Given the description of an element on the screen output the (x, y) to click on. 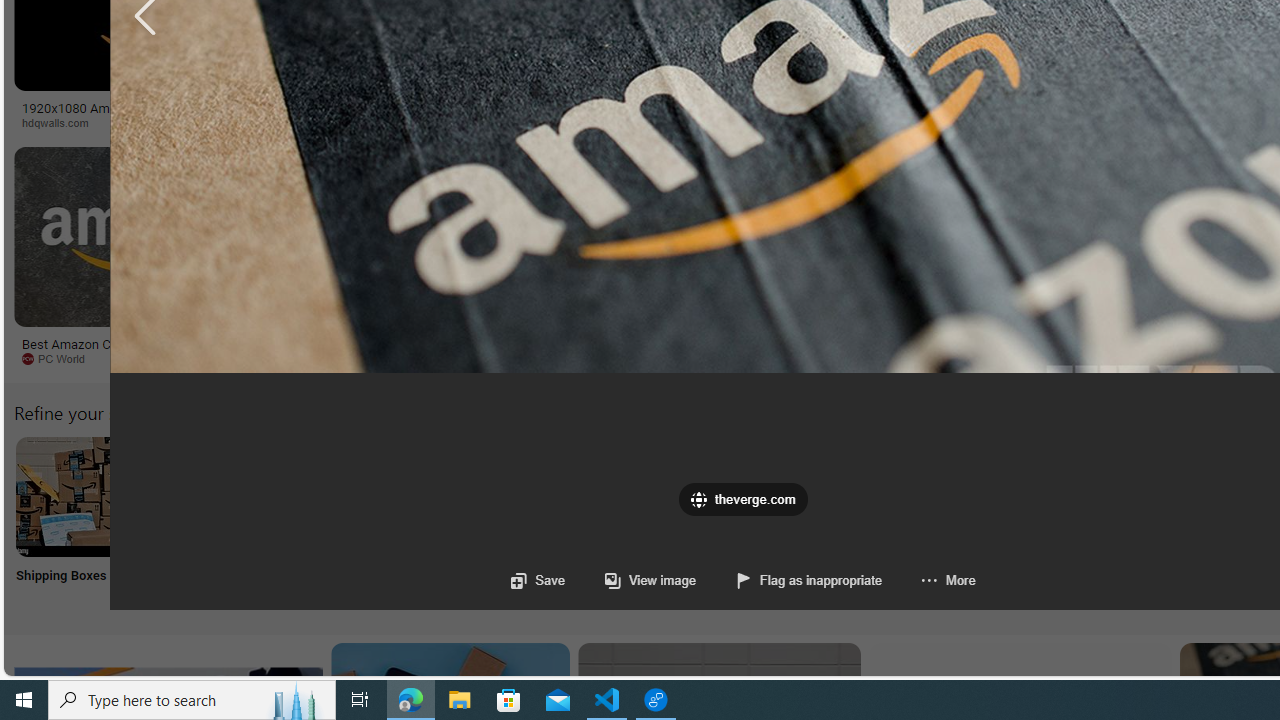
Amazon Online Store Online Store (1131, 521)
Marketplace (700, 121)
hdqwalls.com (167, 123)
Amazon Shipping Boxes Shipping Boxes (75, 521)
Amazon Retail Store Retail Store (867, 521)
thewrap.com (937, 359)
Flag as inappropriate (809, 580)
favicon (699, 499)
The Verge (335, 358)
Online Store (1131, 521)
More (928, 580)
Clip Art (339, 521)
